Given the description of an element on the screen output the (x, y) to click on. 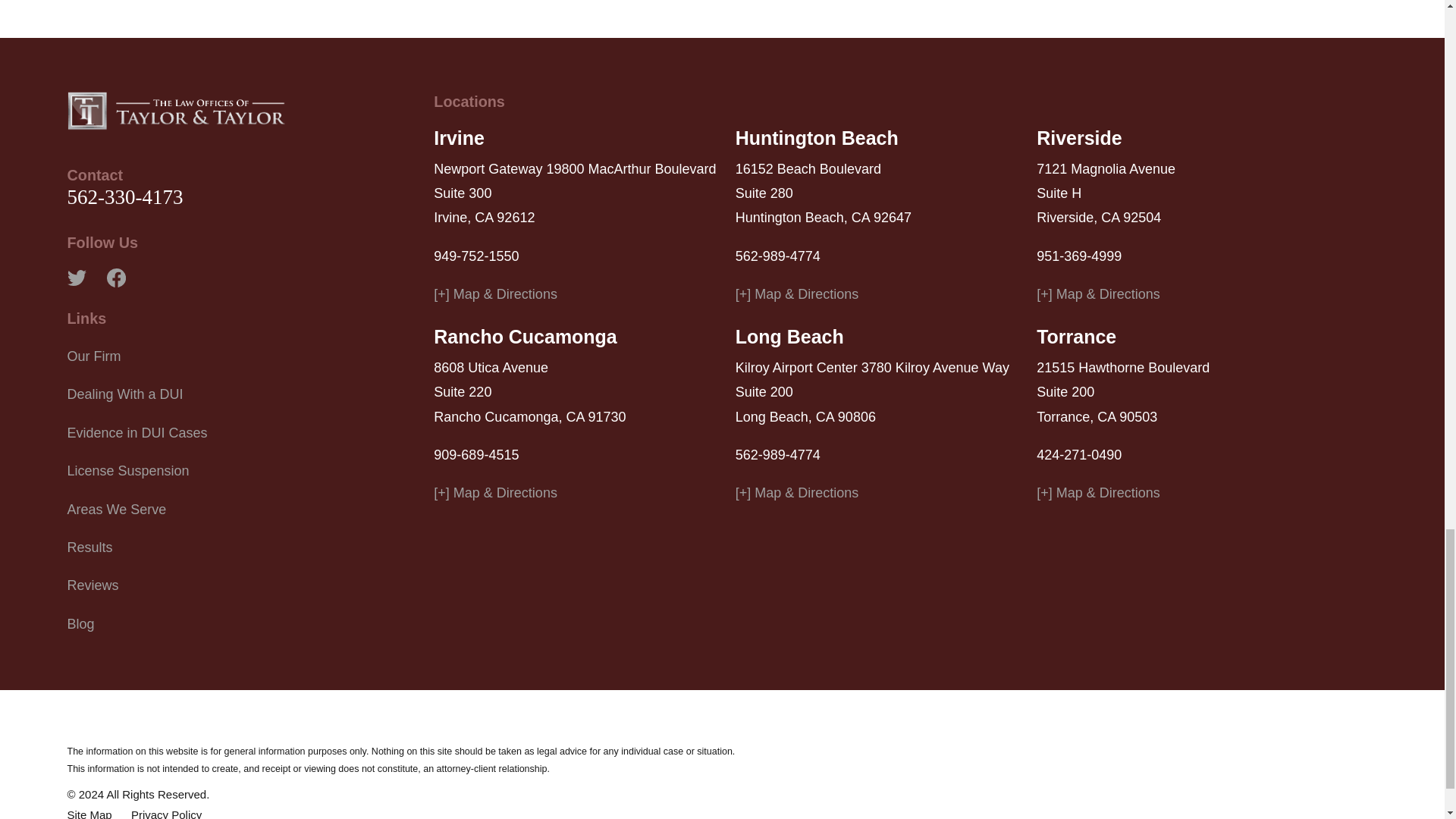
Facebook (115, 277)
Twitter (75, 277)
Home (175, 110)
